Given the description of an element on the screen output the (x, y) to click on. 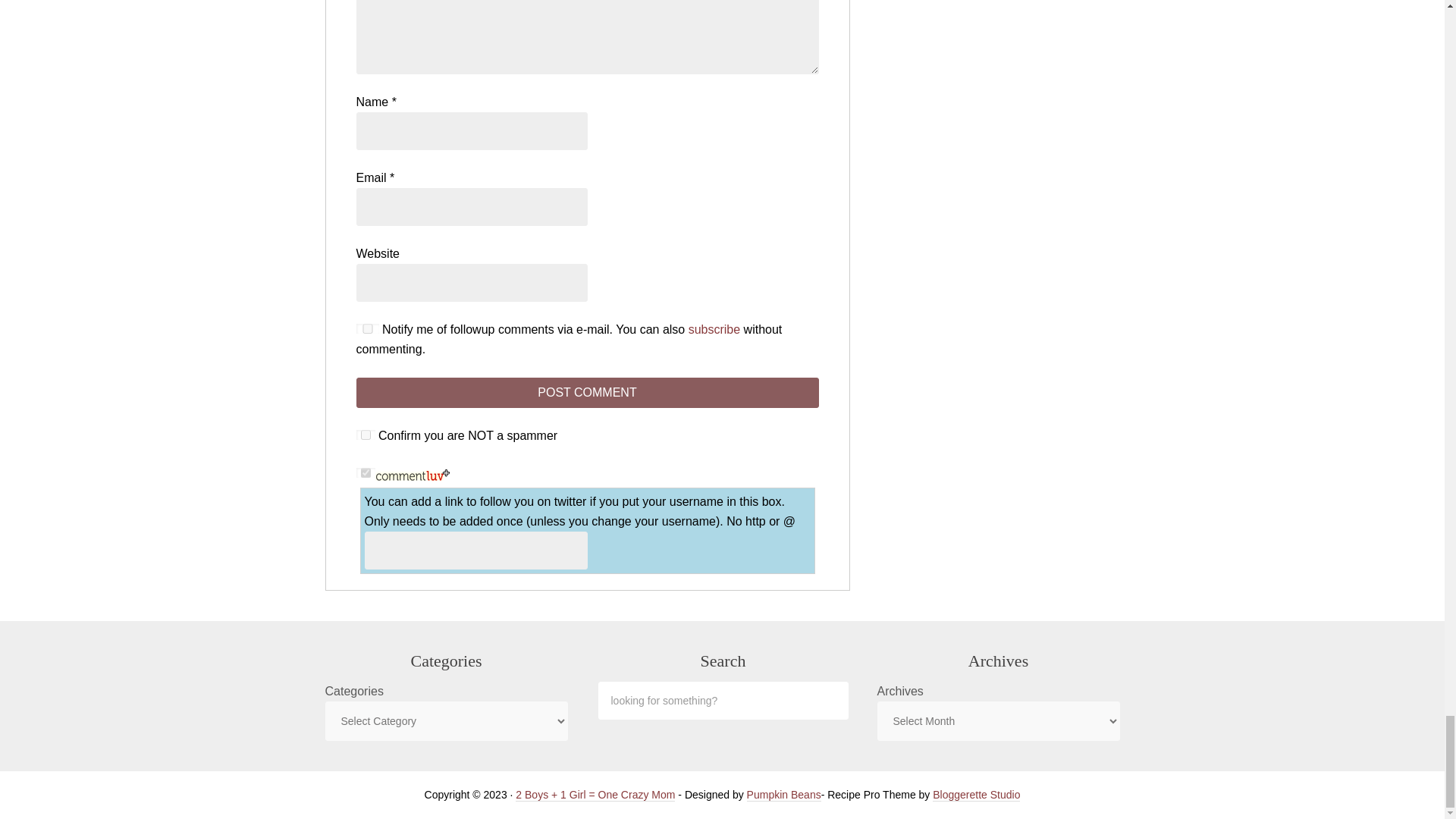
on (365, 434)
Post Comment (587, 392)
on (365, 472)
CommentLuv is enabled (411, 472)
yes (367, 328)
